Given the description of an element on the screen output the (x, y) to click on. 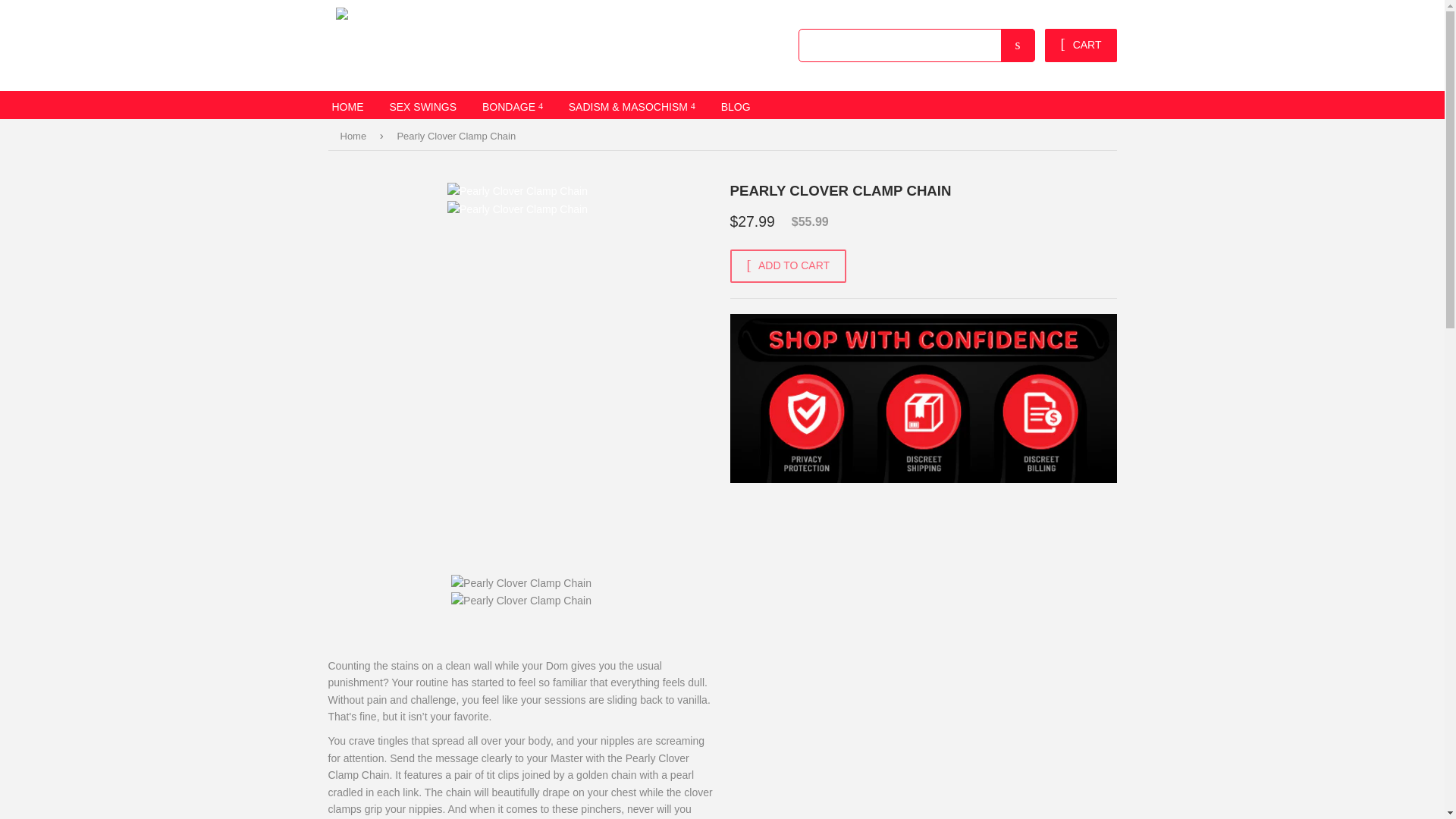
Search (1029, 45)
BLOG (720, 104)
HOME (347, 104)
CART (1087, 45)
BONDAGE (508, 104)
Back to the frontpage (355, 135)
SEX SWINGS (422, 104)
